Given the description of an element on the screen output the (x, y) to click on. 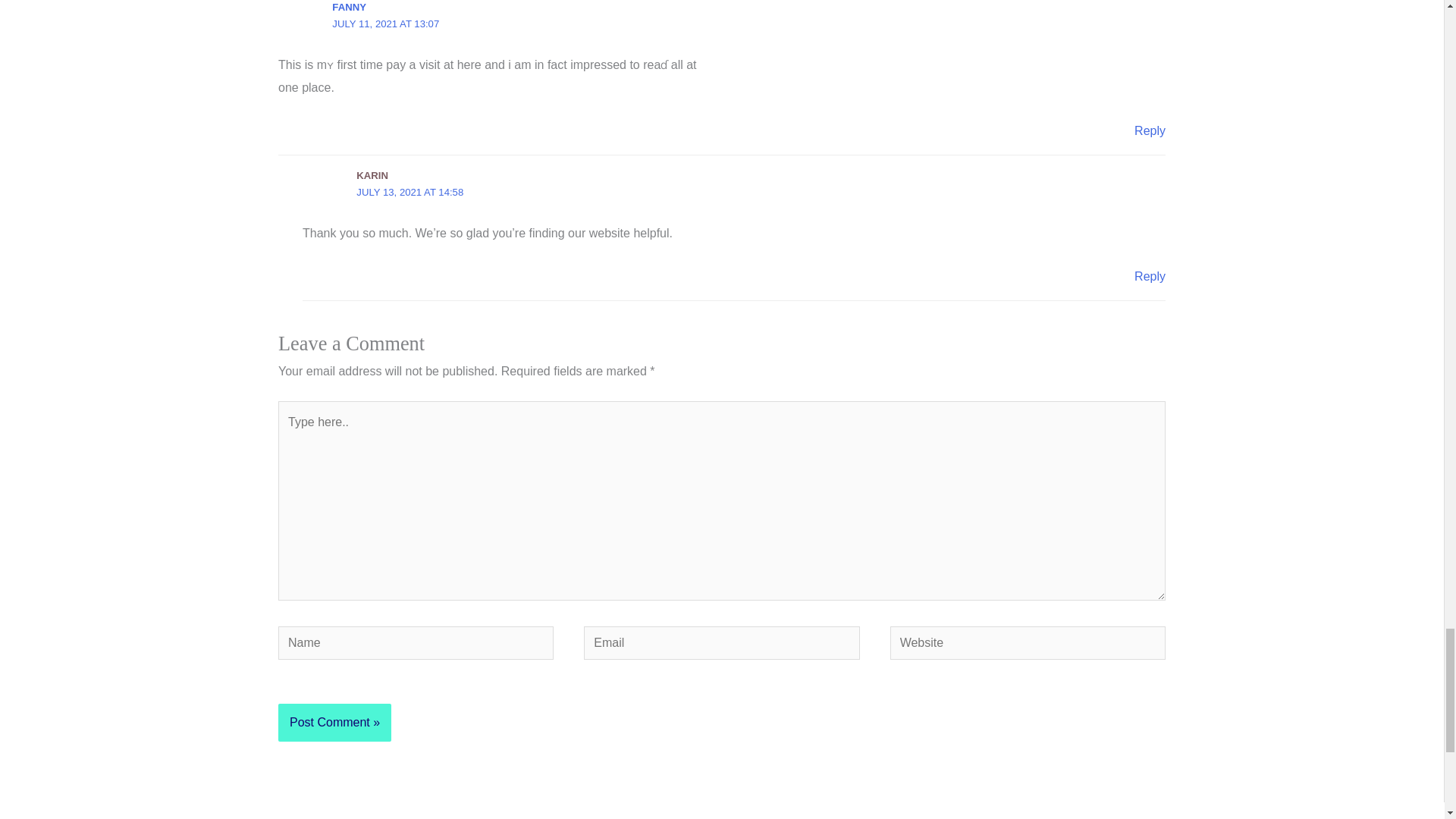
Reply (1150, 276)
Reply (1150, 130)
JULY 13, 2021 AT 14:58 (409, 192)
FANNY (348, 7)
JULY 11, 2021 AT 13:07 (385, 23)
